Given the description of an element on the screen output the (x, y) to click on. 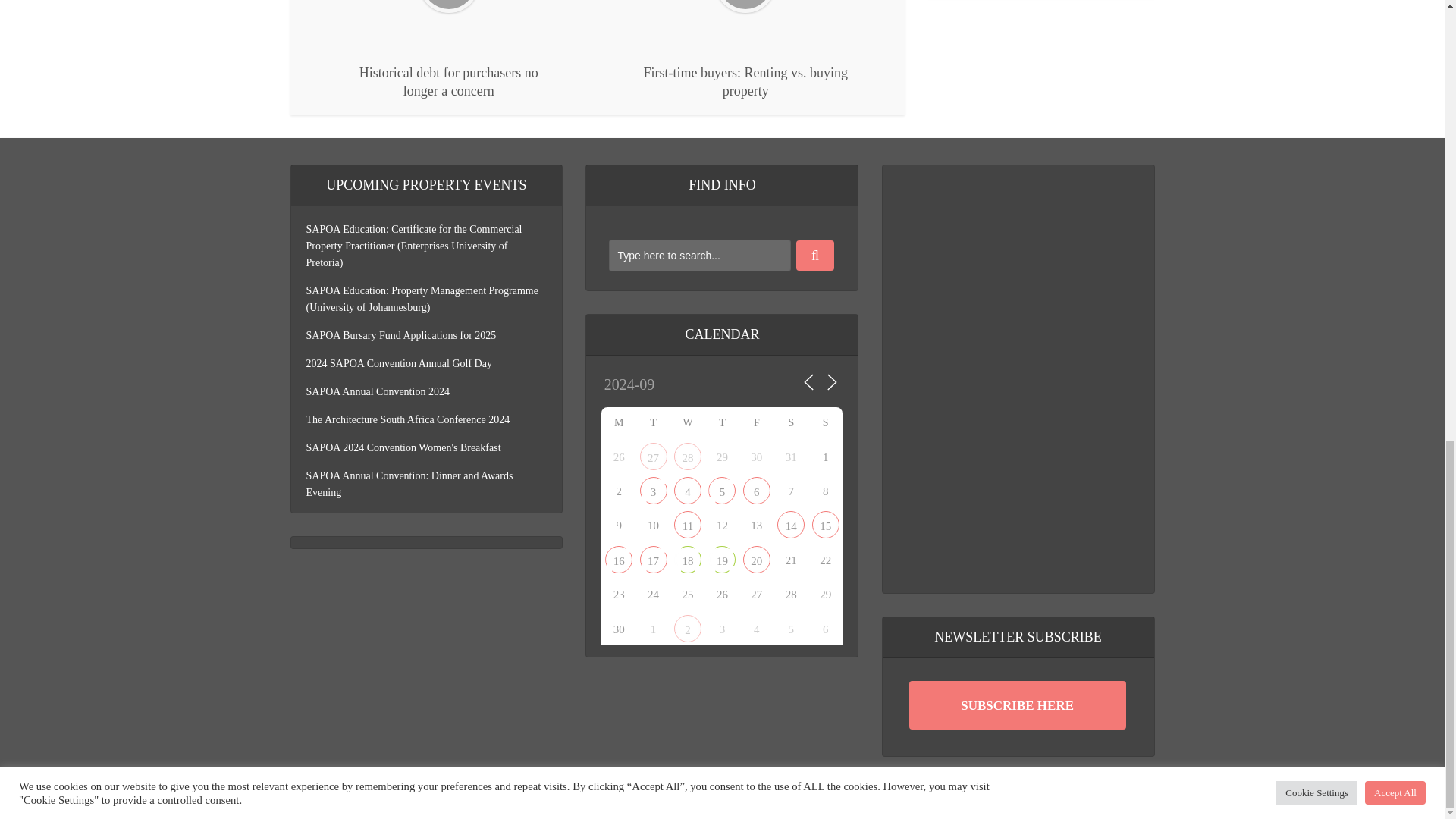
2024-09 (674, 385)
Type here to search... (699, 255)
The Architecture South Africa Conference 2024 (687, 490)
Type here to search... (699, 255)
Master Builders SA Annual Congress (756, 490)
